Given the description of an element on the screen output the (x, y) to click on. 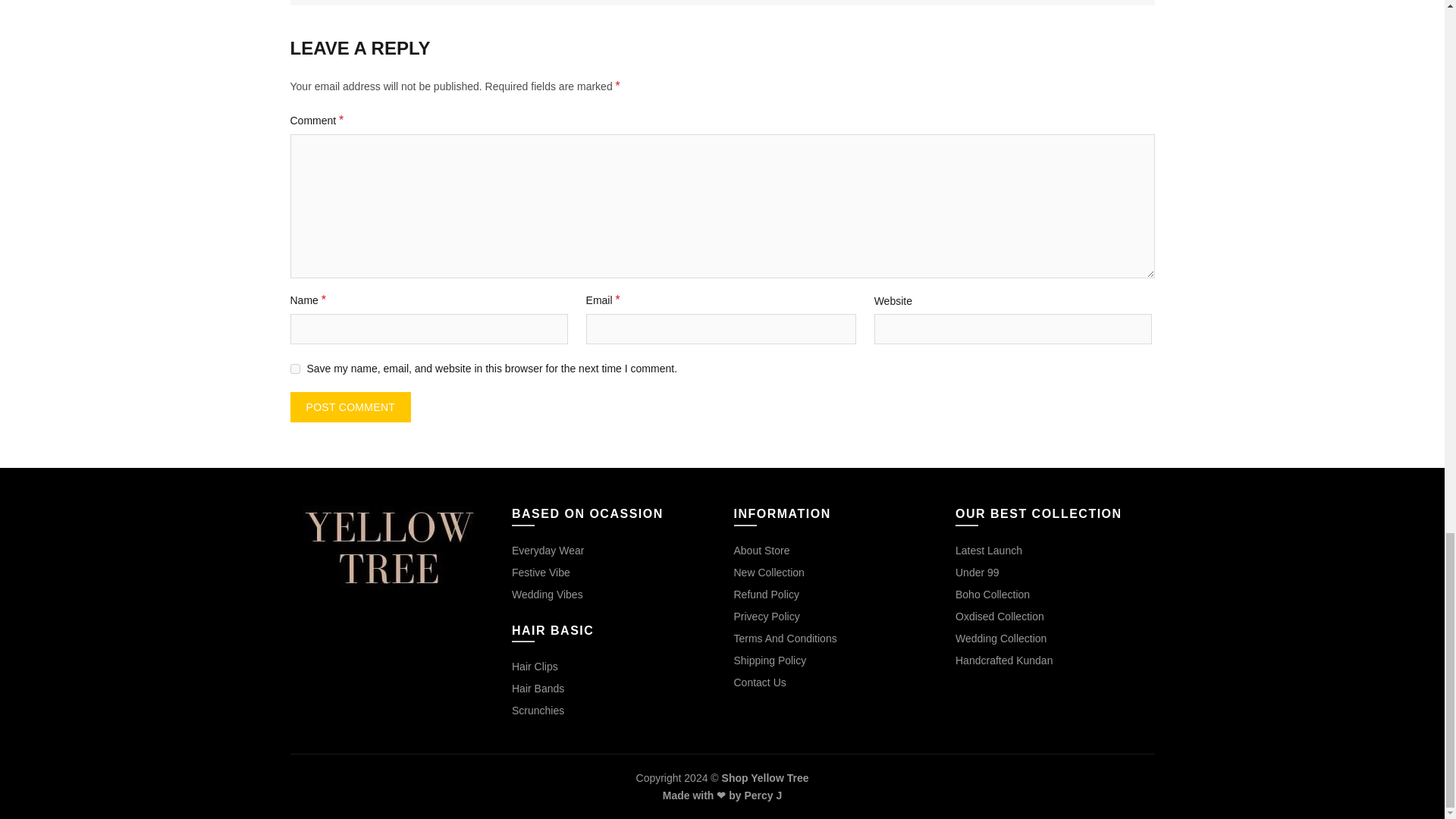
Post Comment (349, 407)
ShopYellowTree (389, 547)
yes (294, 368)
